Given the description of an element on the screen output the (x, y) to click on. 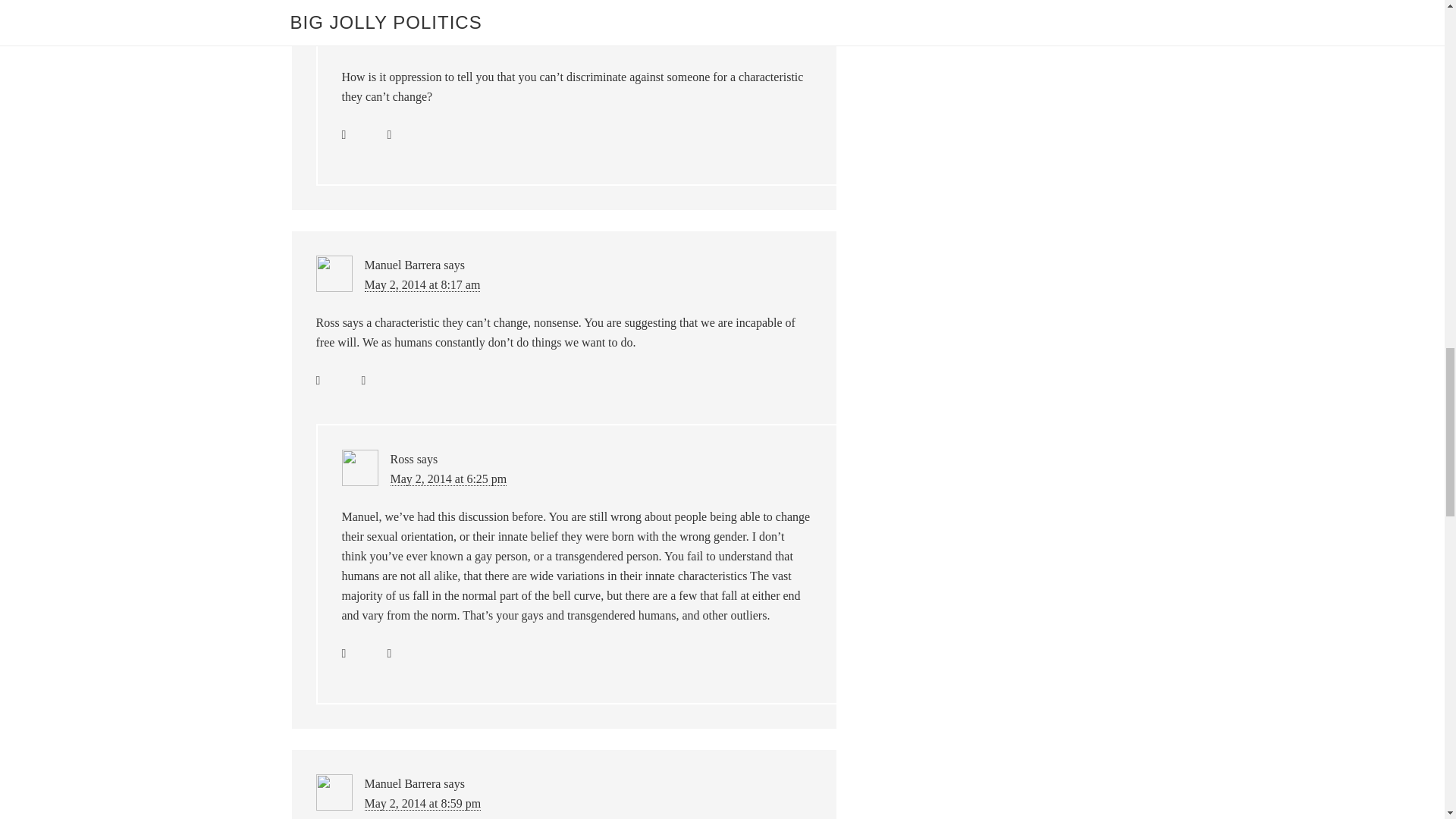
May 1, 2014 at 8:29 pm (448, 38)
May 2, 2014 at 6:25 pm (448, 479)
May 2, 2014 at 8:59 pm (422, 803)
May 2, 2014 at 8:17 am (422, 284)
